Given the description of an element on the screen output the (x, y) to click on. 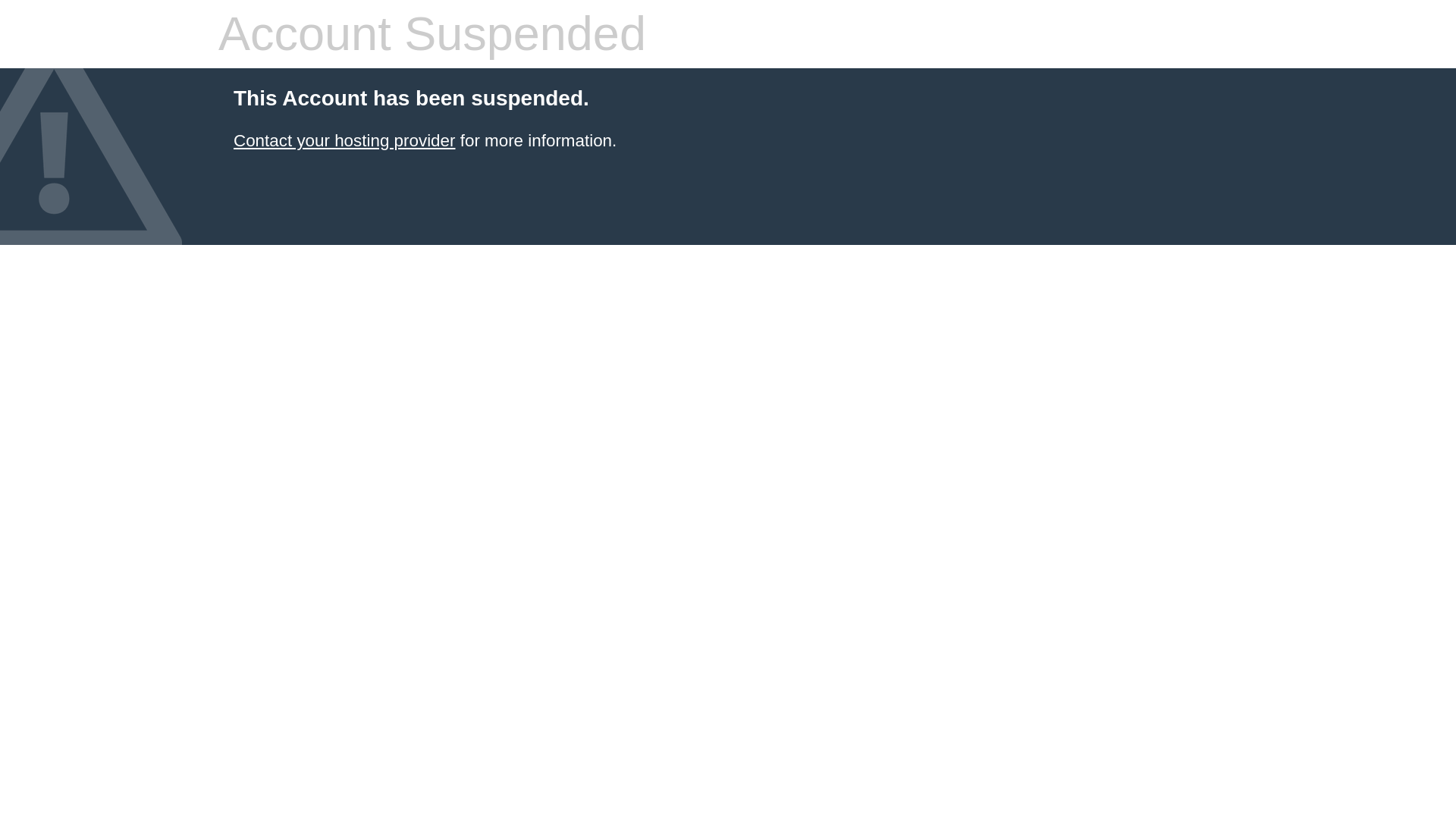
Contact your hosting provider (343, 140)
